Given the description of an element on the screen output the (x, y) to click on. 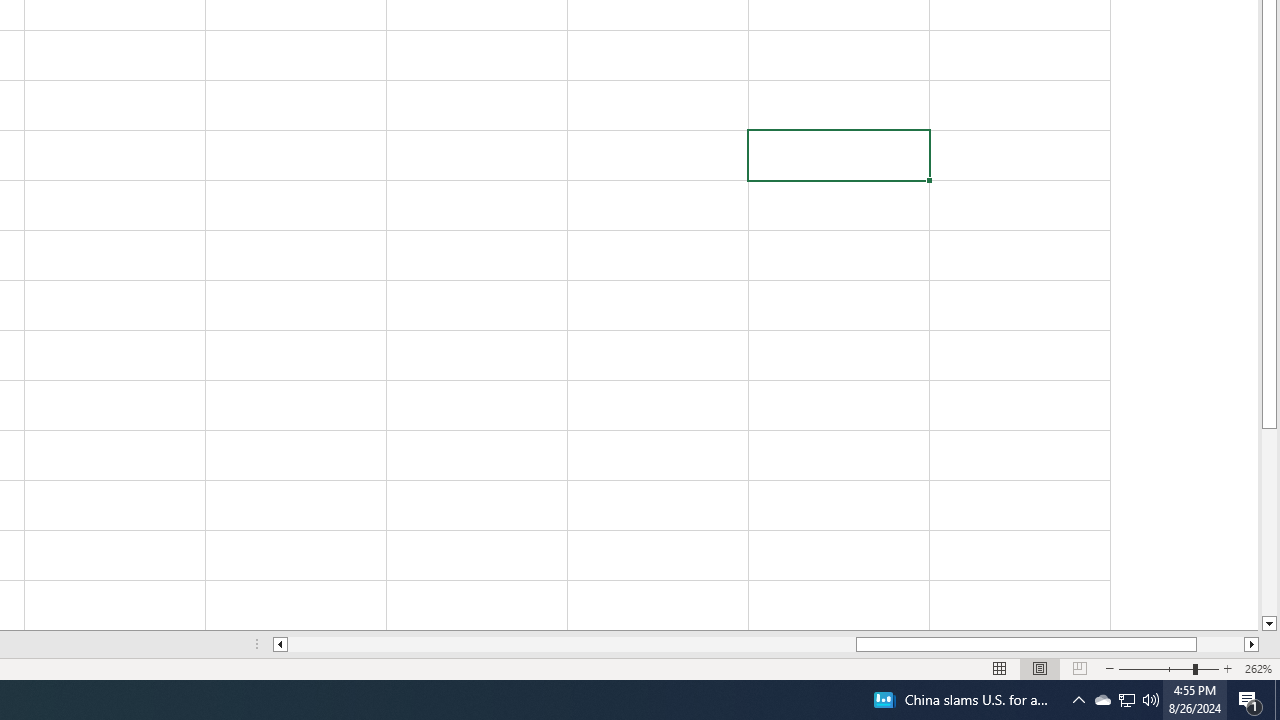
Page left (572, 644)
